Given the description of an element on the screen output the (x, y) to click on. 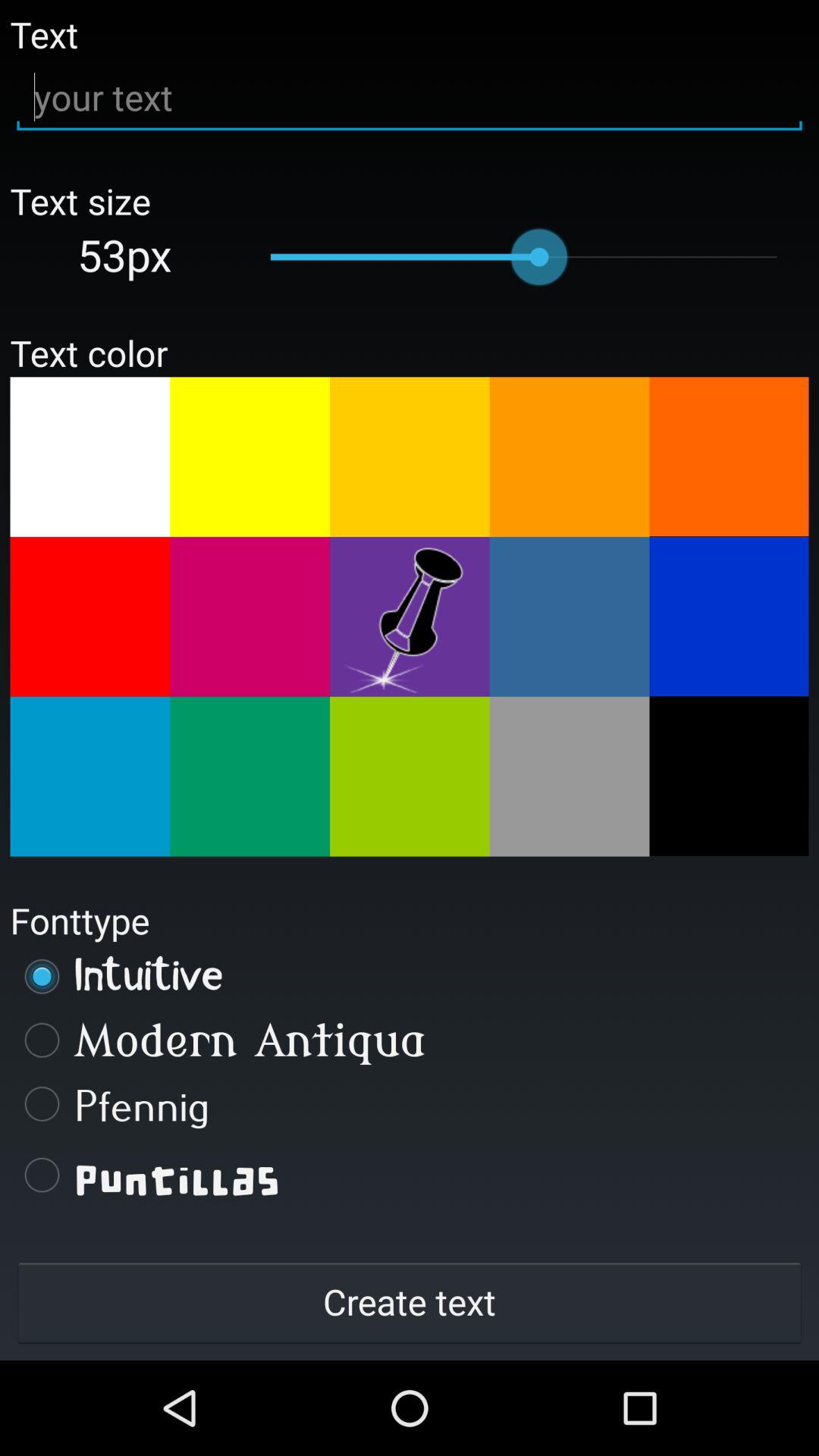
select the modern antiqua item (409, 1040)
